Given the description of an element on the screen output the (x, y) to click on. 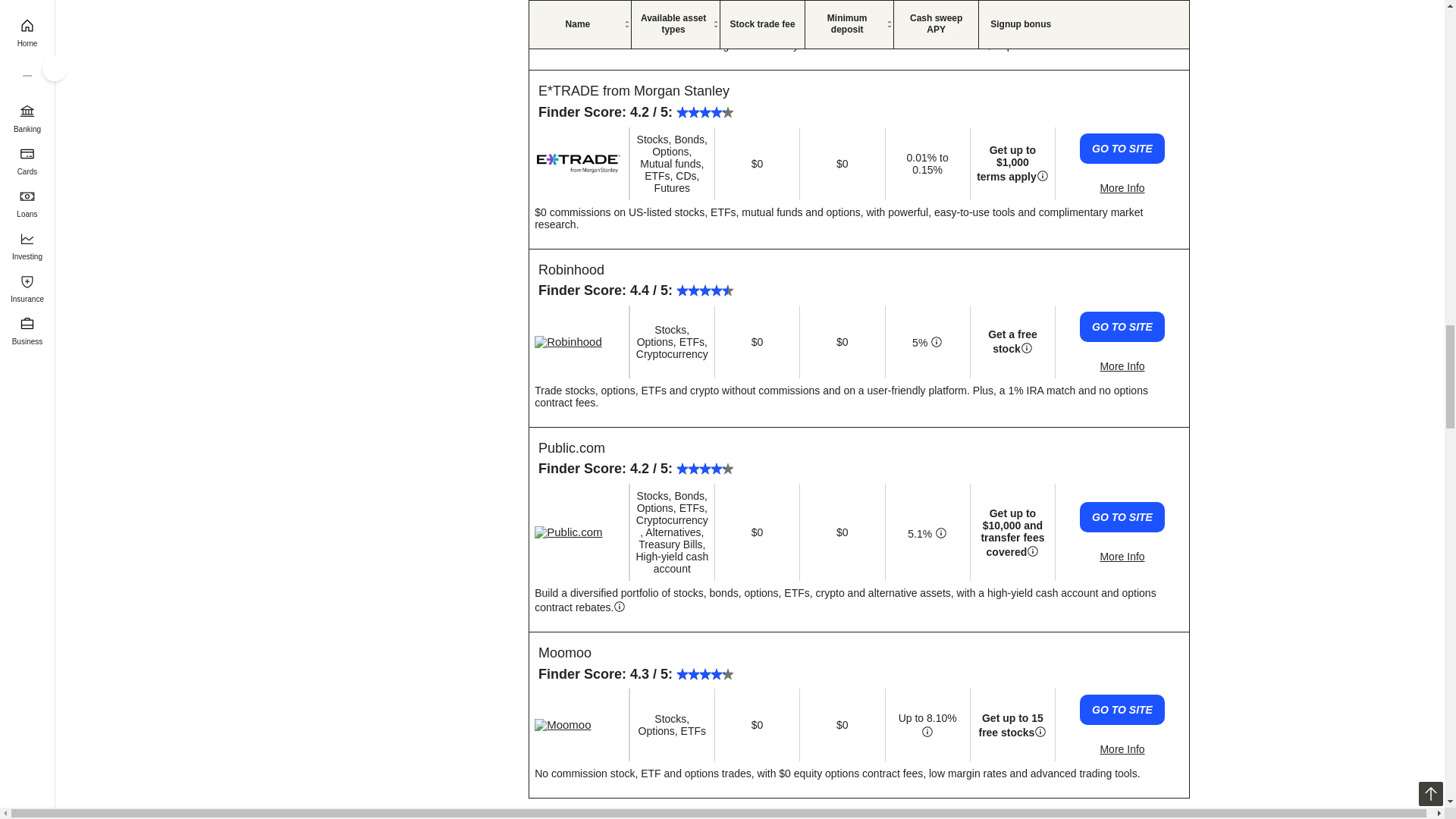
Read our review of this product (578, 10)
